Given the description of an element on the screen output the (x, y) to click on. 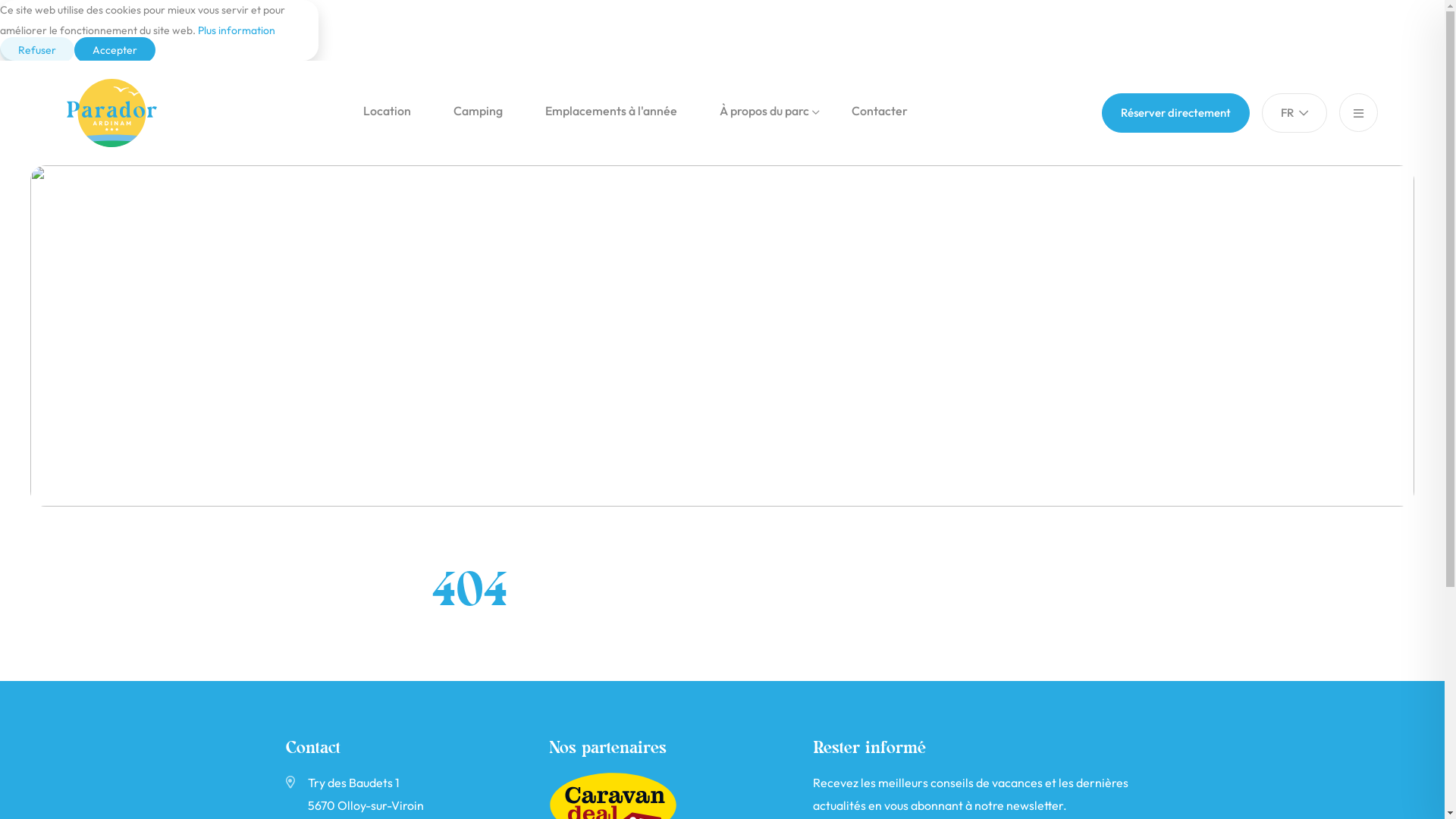
Contacter Element type: text (879, 110)
Location Element type: text (387, 110)
FR Element type: text (1294, 112)
Plus information Element type: text (236, 30)
Accepter Element type: text (114, 49)
Ardinam Element type: text (123, 112)
Refuser Element type: text (37, 49)
Camping Element type: text (478, 110)
SVP 6338 Element type: hover (722, 335)
